Given the description of an element on the screen output the (x, y) to click on. 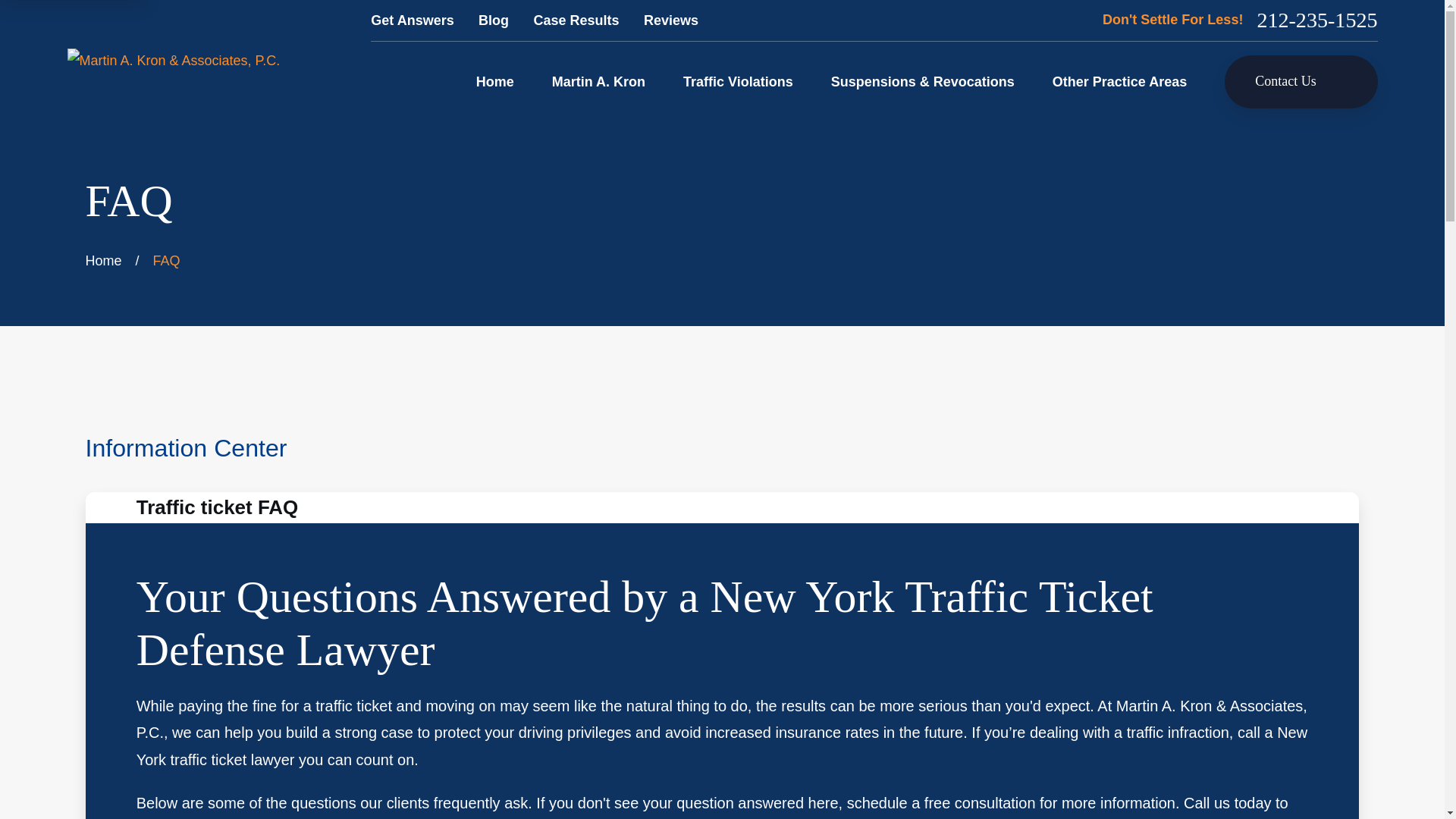
Get Answers (411, 20)
Home (172, 60)
Other Practice Areas (1119, 81)
Traffic Violations (737, 81)
Blog (493, 20)
Case Results (575, 20)
212-235-1525 (1316, 20)
Go Home (103, 260)
Martin A. Kron (598, 81)
Reviews (670, 20)
